Given the description of an element on the screen output the (x, y) to click on. 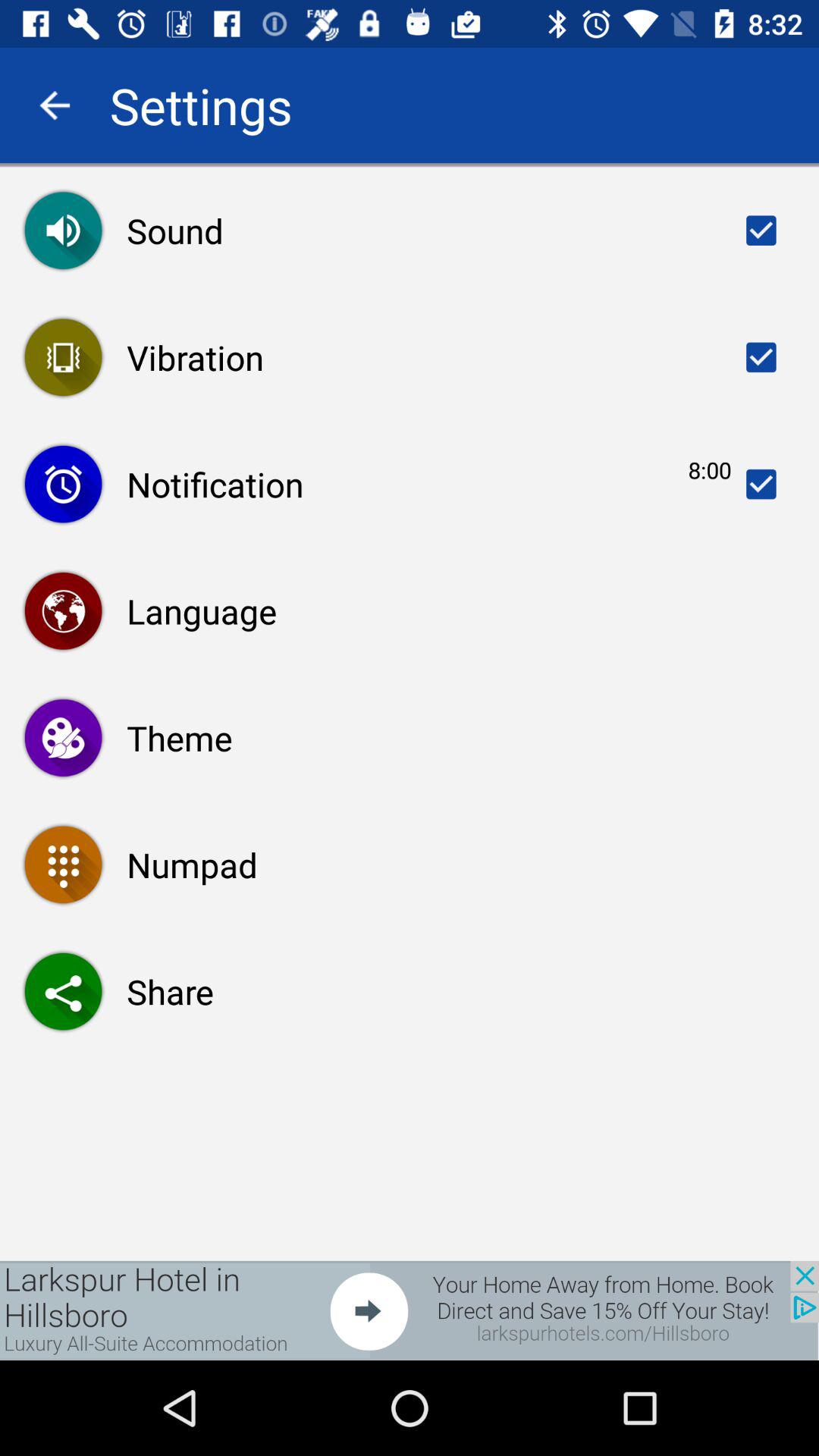
toggle confirm option (761, 484)
